Given the description of an element on the screen output the (x, y) to click on. 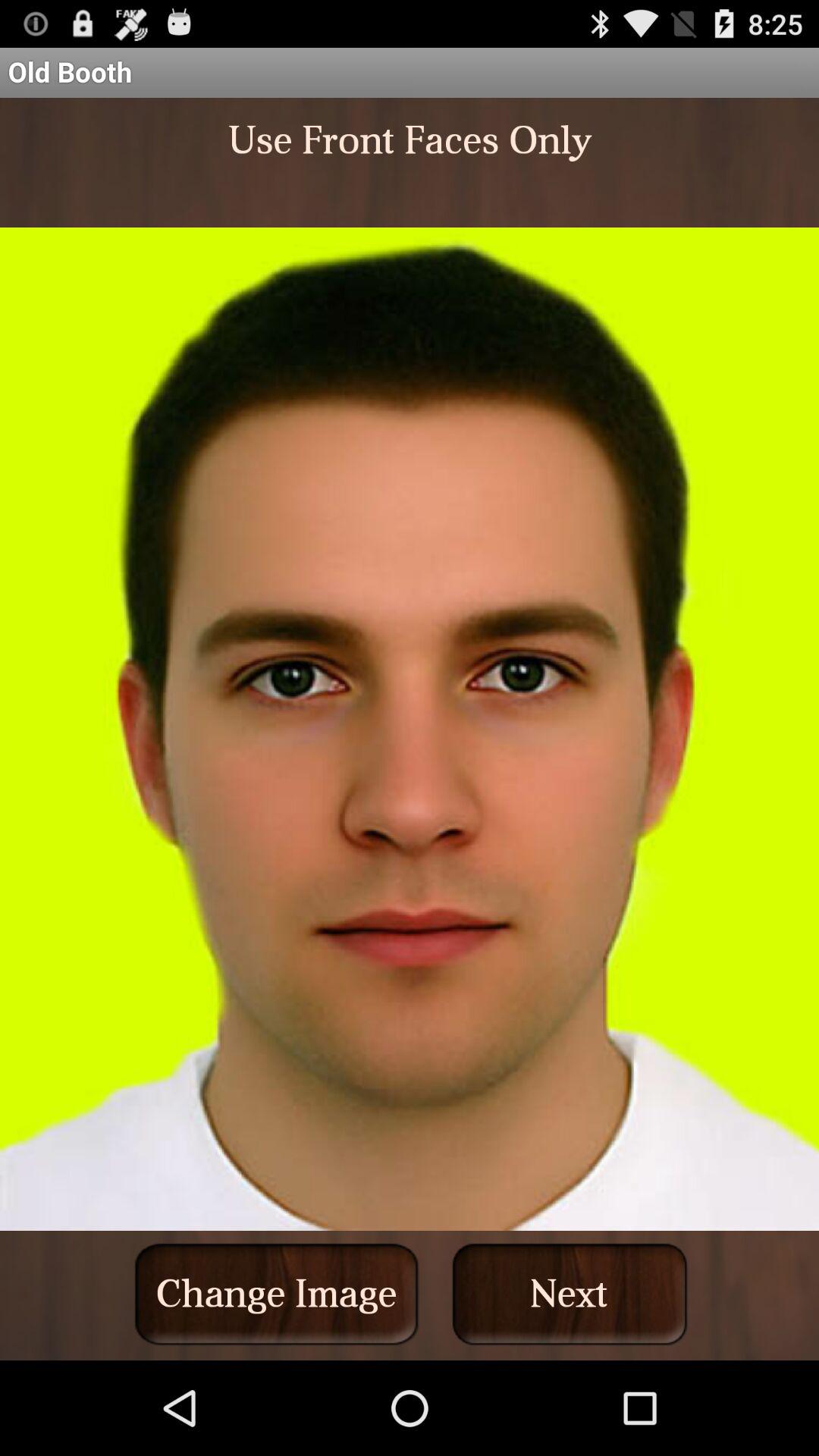
choose the icon below the use front faces icon (569, 1293)
